Given the description of an element on the screen output the (x, y) to click on. 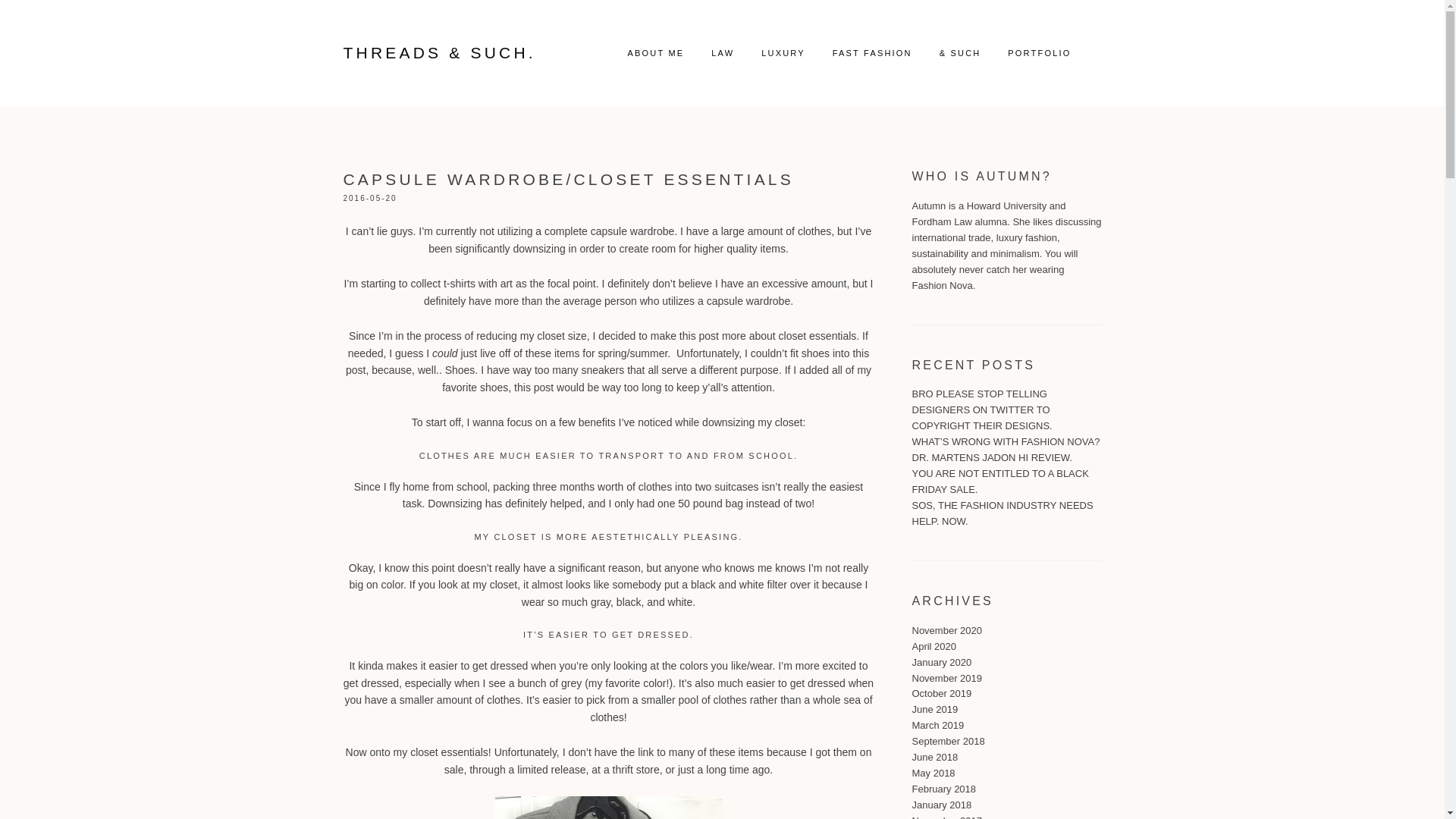
June 2019 (934, 708)
March 2019 (937, 725)
FAST FASHION (872, 53)
February 2018 (943, 788)
LUXURY (783, 53)
PORTFOLIO (1038, 53)
September 2018 (947, 740)
DR. MARTENS JADON HI REVIEW. (991, 457)
October 2019 (941, 693)
January 2018 (941, 804)
